Given the description of an element on the screen output the (x, y) to click on. 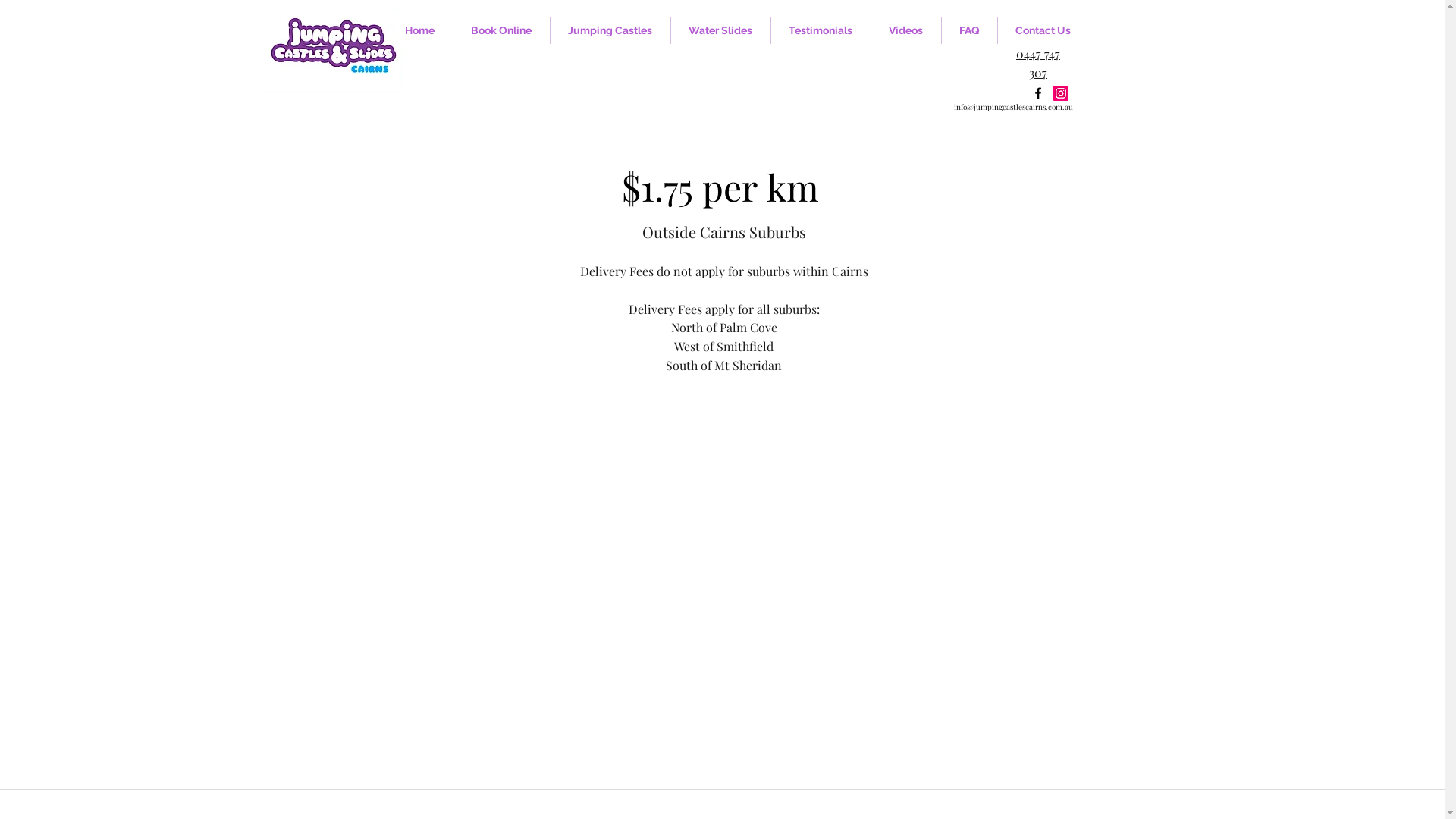
Videos Element type: text (905, 29)
Testimonials Element type: text (819, 29)
Jumping Castles Element type: text (610, 29)
Home Element type: text (418, 29)
info@jumpingcastlescairns.com.au Element type: text (1013, 106)
Contact Us Element type: text (1042, 29)
FAQ Element type: text (969, 29)
0447 747 307 Element type: text (1038, 62)
Water Slides Element type: text (719, 29)
Book Online Element type: text (501, 29)
